Given the description of an element on the screen output the (x, y) to click on. 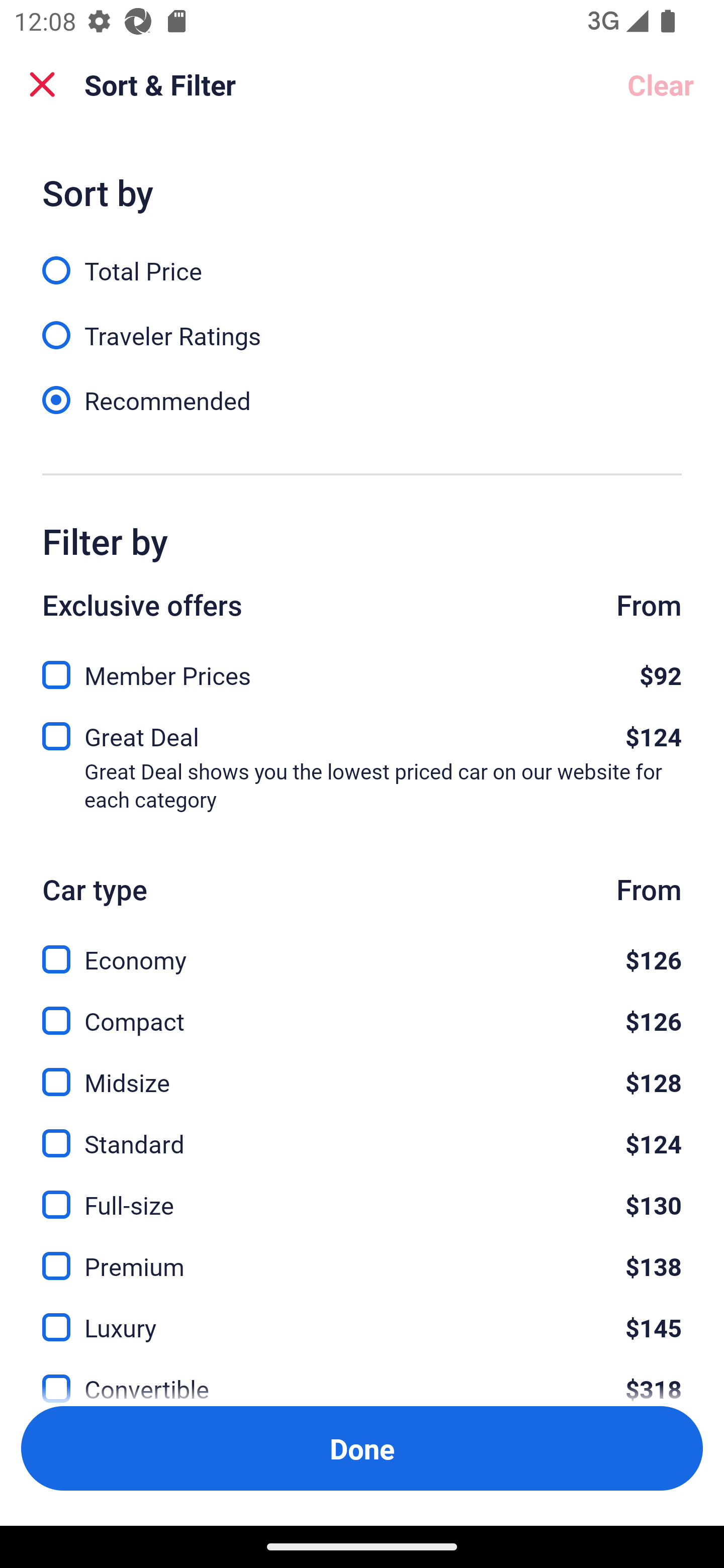
Close Sort and Filter (42, 84)
Clear (660, 84)
Total Price (361, 259)
Traveler Ratings (361, 324)
Member Prices, $92 Member Prices $92 (361, 669)
Economy, $126 Economy $126 (361, 947)
Compact, $126 Compact $126 (361, 1008)
Midsize, $128 Midsize $128 (361, 1070)
Standard, $124 Standard $124 (361, 1132)
Full-size, $130 Full-size $130 (361, 1193)
Premium, $138 Premium $138 (361, 1254)
Luxury, $145 Luxury $145 (361, 1315)
Convertible, $318 Convertible $318 (361, 1376)
Apply and close Sort and Filter Done (361, 1448)
